Given the description of an element on the screen output the (x, y) to click on. 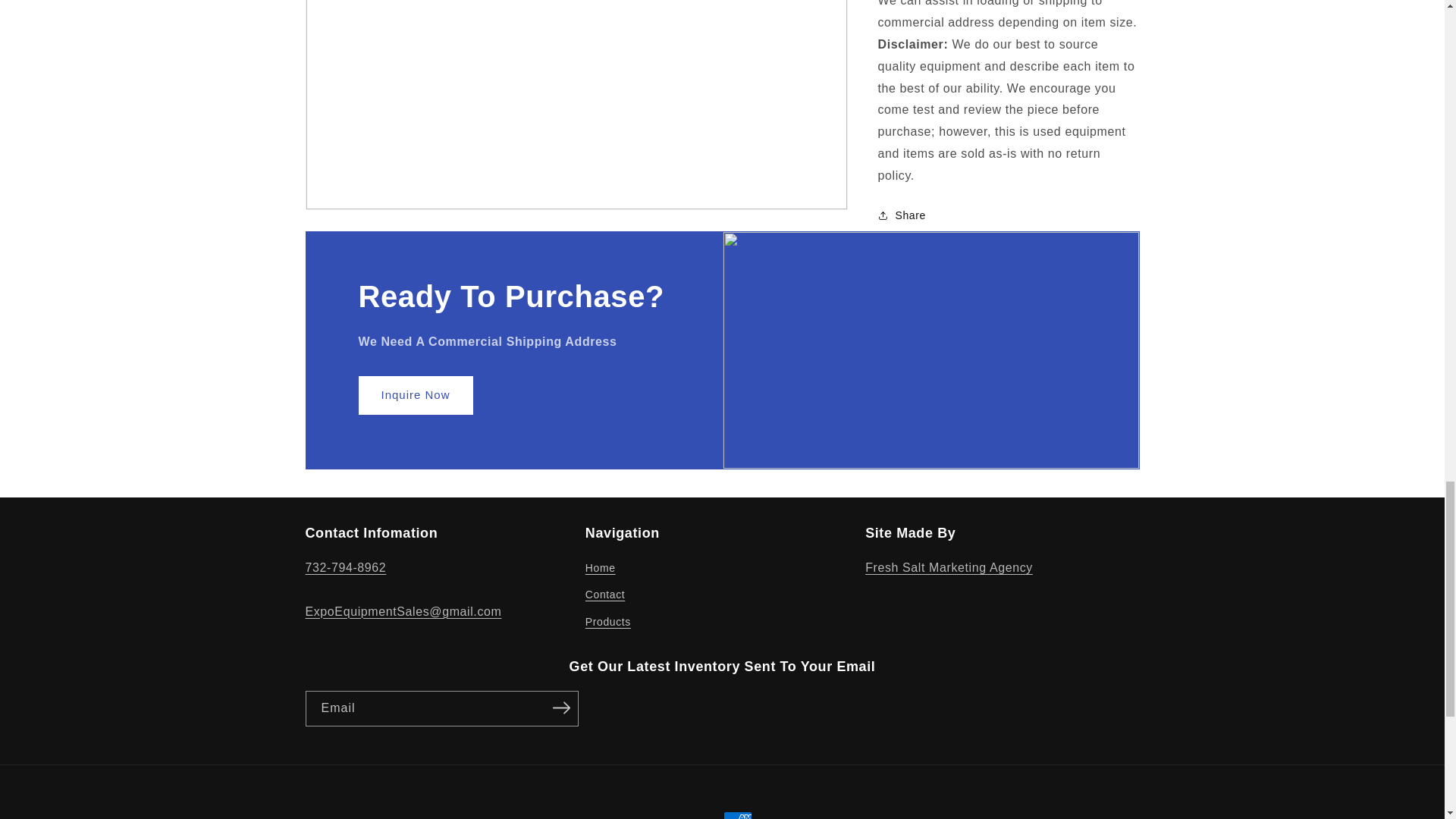
American Express (737, 815)
732-794-8962 (344, 567)
Inquire Now (414, 394)
tel:732-794-8962 (344, 567)
